Given the description of an element on the screen output the (x, y) to click on. 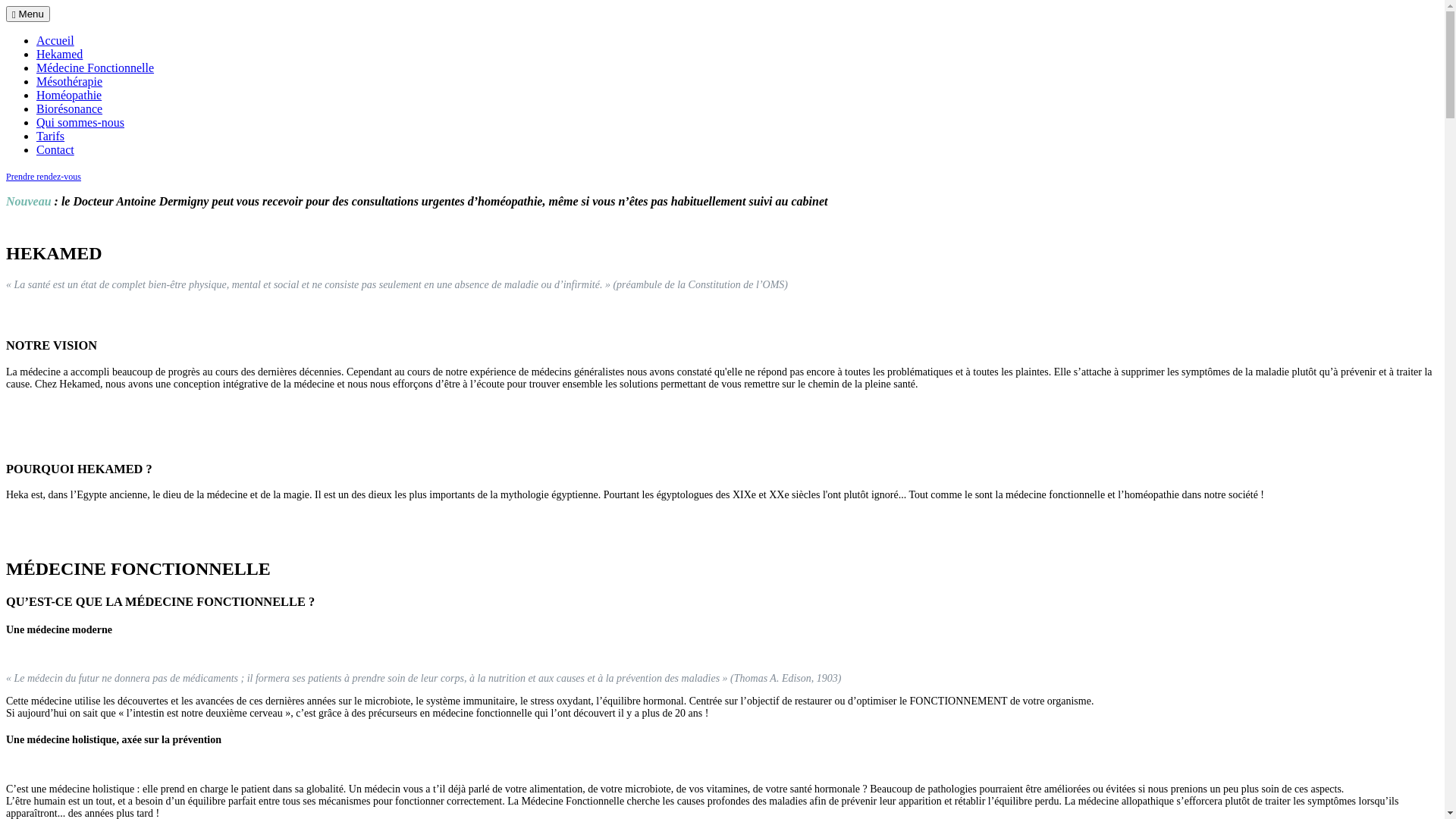
Accueil Element type: text (55, 40)
Menu Element type: text (28, 13)
Hekamed Element type: text (59, 53)
Tarifs Element type: text (50, 135)
Prendre rendez-vous Element type: text (43, 176)
Qui sommes-nous Element type: text (80, 122)
Contact Element type: text (55, 149)
